Given the description of an element on the screen output the (x, y) to click on. 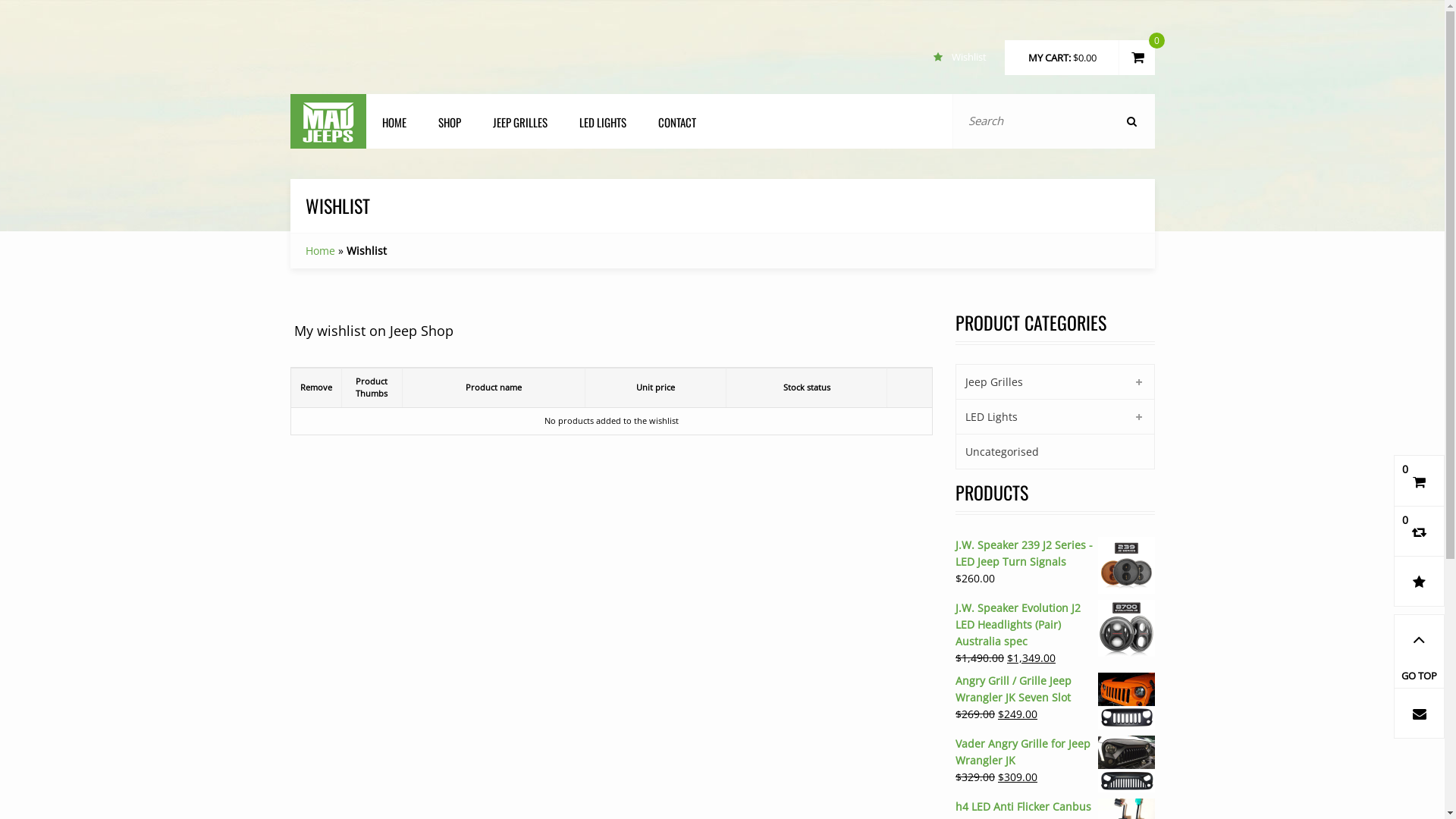
Angry Grill / Grille Jeep Wrangler JK Seven Slot Element type: text (1054, 689)
LED Lights Element type: text (986, 416)
J.W. Speaker 239 J2 Series - LED Jeep Turn Signals Element type: text (1054, 553)
0 Element type: text (1418, 480)
JEEP GRILLES Element type: text (519, 121)
Vader Angry Grille for Jeep Wrangler JK Element type: text (1054, 751)
GO TOP Element type: text (1418, 651)
0 Element type: text (1418, 531)
SHOP Element type: text (448, 121)
LED LIGHTS Element type: text (601, 121)
Jeep Grilles Element type: text (989, 381)
Uncategorised Element type: text (997, 451)
HOME Element type: text (393, 121)
MY CART: $0.00 Element type: text (1061, 57)
Wishlist Element type: text (967, 55)
Home Element type: text (319, 250)
CONTACT Element type: text (676, 121)
